Given the description of an element on the screen output the (x, y) to click on. 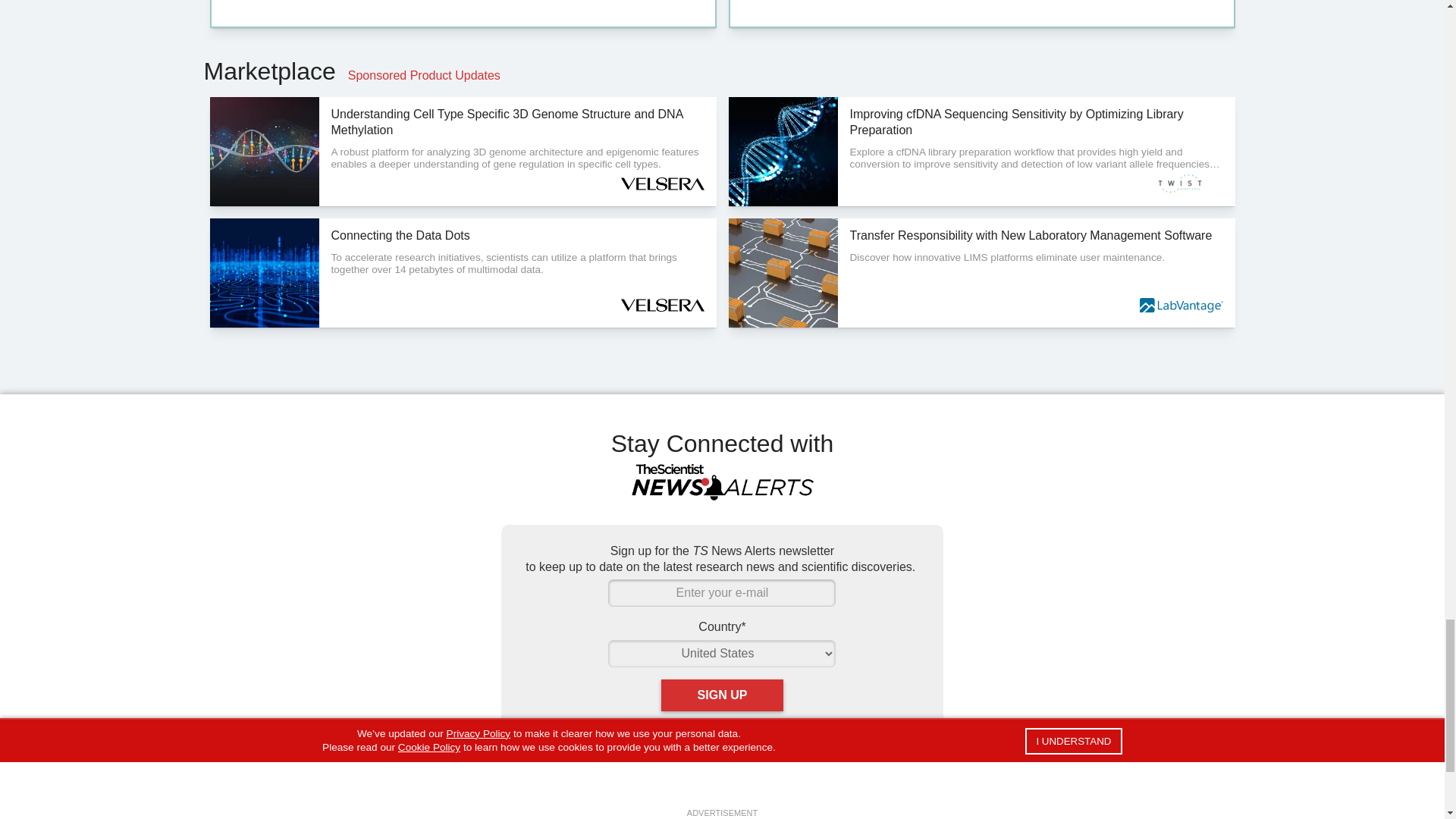
Sign Up (722, 695)
